Given the description of an element on the screen output the (x, y) to click on. 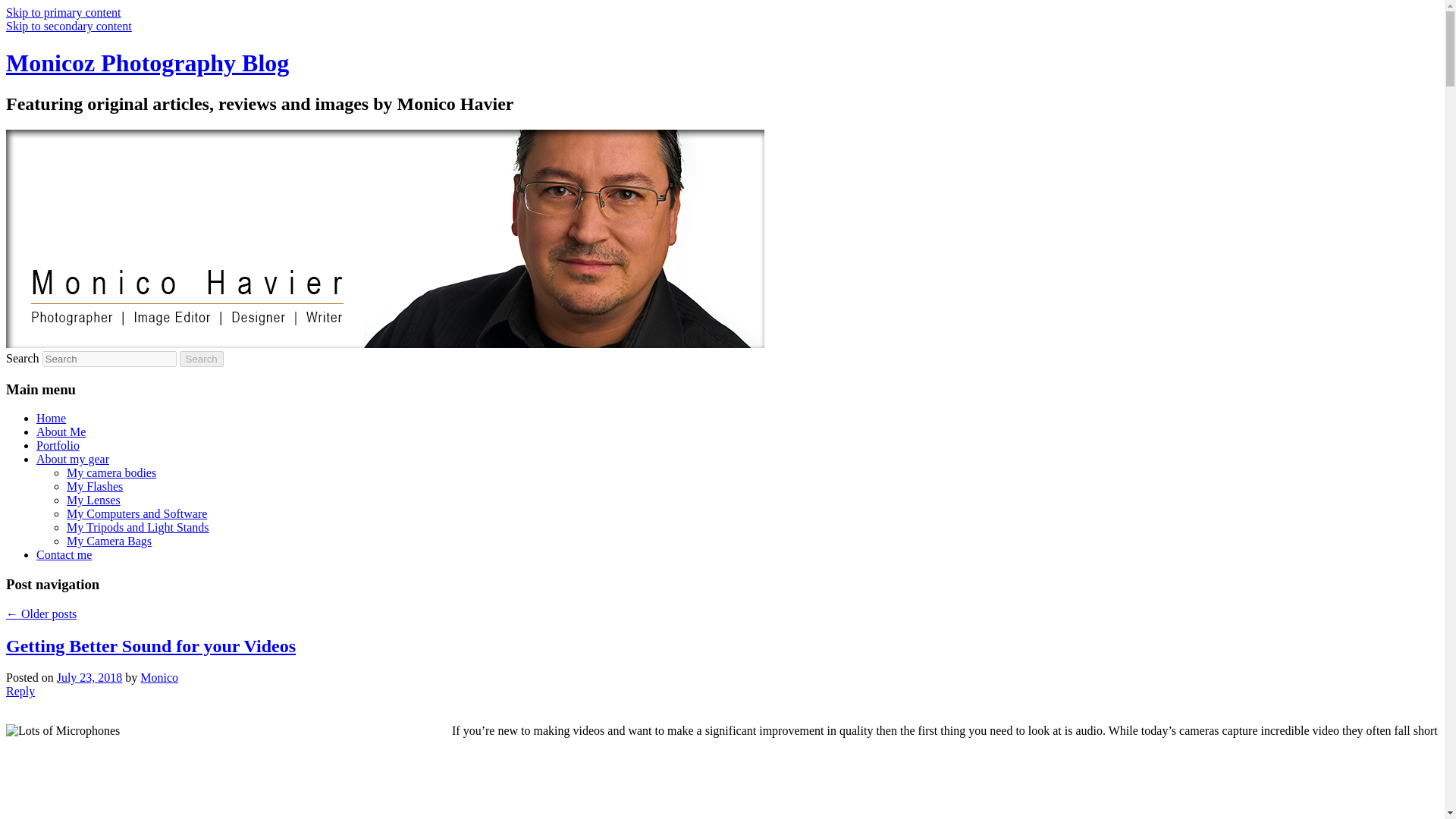
Home (50, 418)
Contact me (63, 554)
My Camera Bags (108, 540)
My camera bodies (110, 472)
Skip to primary content (62, 11)
Portfolio (58, 445)
Skip to secondary content (68, 25)
Getting Better Sound for your Videos (150, 646)
View all posts by Monico (158, 676)
My Lenses (93, 499)
